Given the description of an element on the screen output the (x, y) to click on. 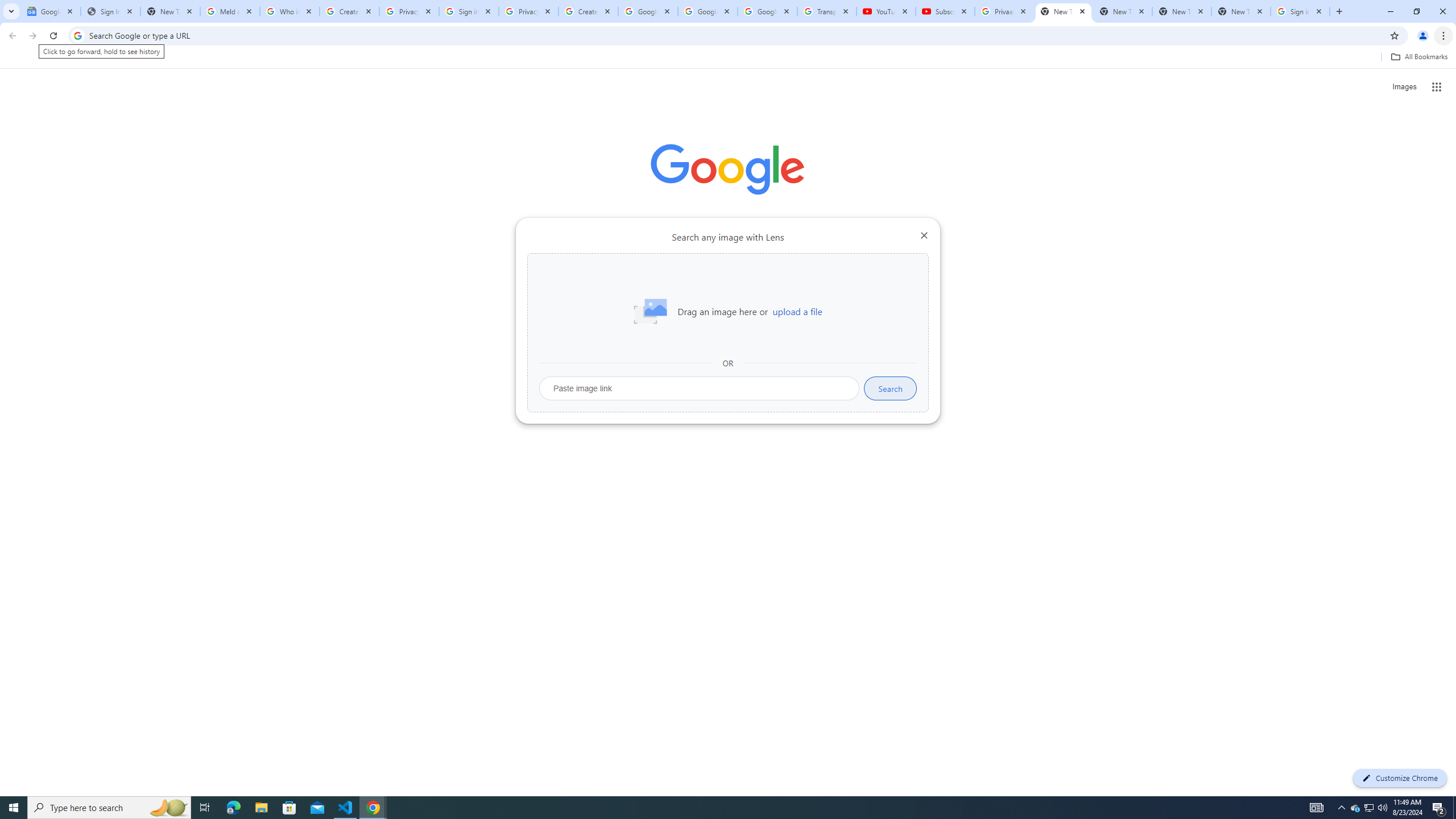
Transform (59, 567)
